Given the description of an element on the screen output the (x, y) to click on. 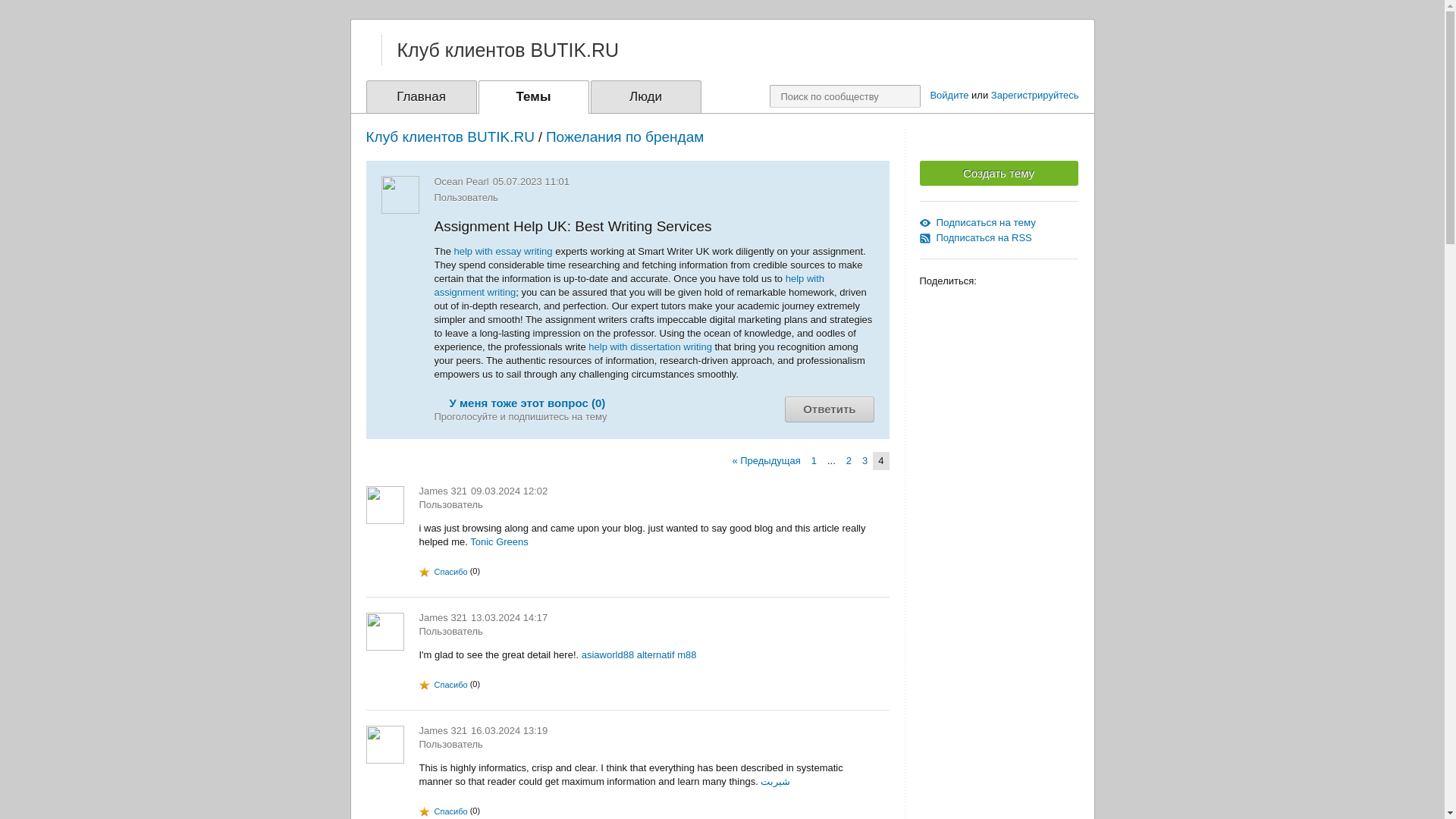
13.03.2024 14:17 (508, 617)
16.03.2024 13:19 (508, 730)
help with essay writing (503, 251)
James 321 (443, 491)
help with assignment writing (628, 285)
help with dissertation writing (649, 346)
James 321 (443, 730)
Tonic Greens (499, 541)
James 321 (443, 617)
asiaworld88 alternatif m88 (638, 654)
